Given the description of an element on the screen output the (x, y) to click on. 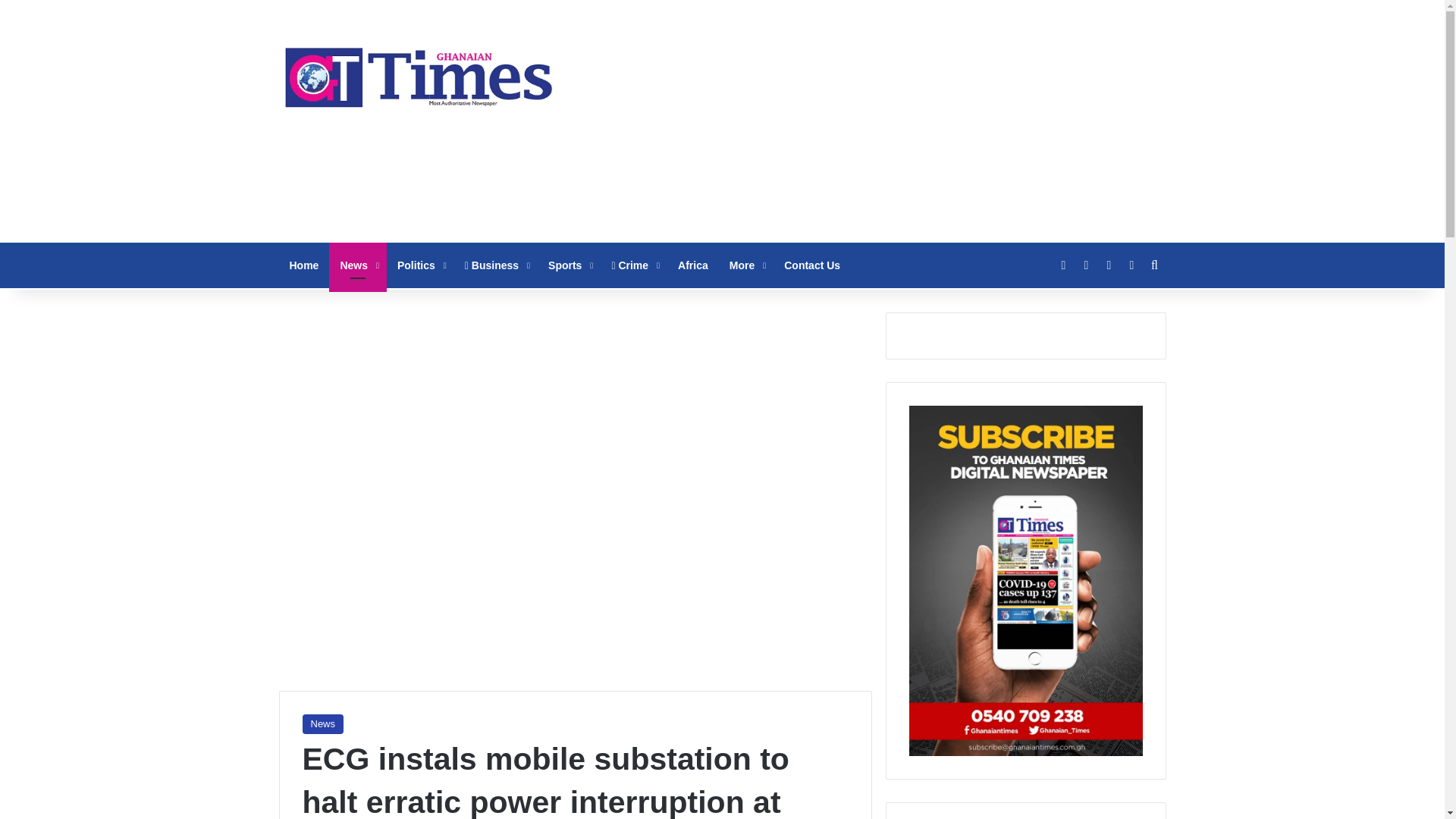
Crime (632, 265)
News (322, 723)
Business (495, 265)
Switch skin (1131, 265)
More (746, 265)
Facebook (1063, 265)
Switch skin (1131, 265)
Contact Us (811, 265)
Sports (568, 265)
Advertisement (874, 121)
Africa (692, 265)
X (1086, 265)
Ghanaian Times (419, 72)
News (358, 265)
